Given the description of an element on the screen output the (x, y) to click on. 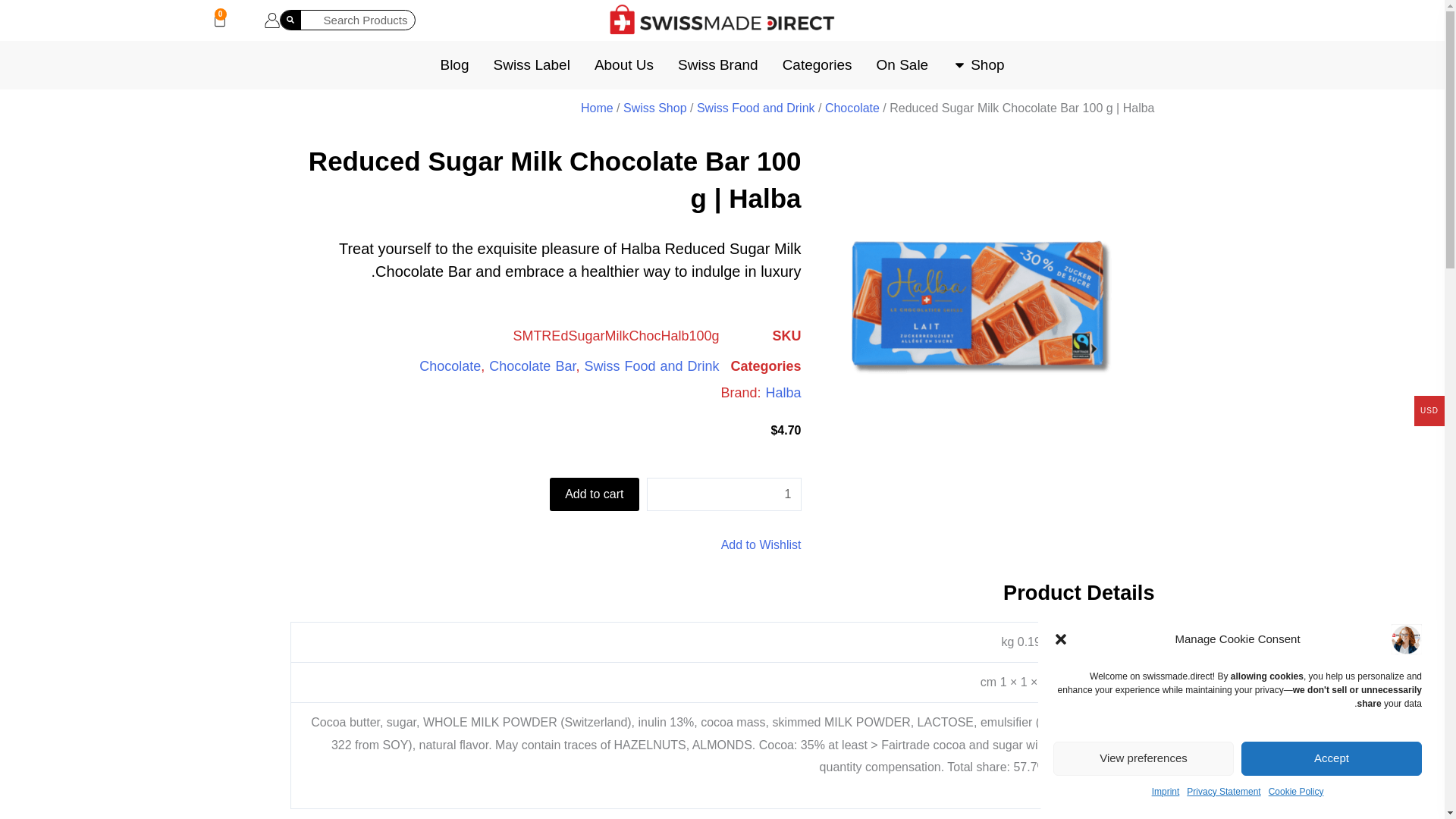
Search (291, 19)
Privacy Statement (1223, 791)
1 (219, 22)
Accept (723, 494)
View preferences (1331, 758)
Imprint (1142, 758)
Reduced Sugar Milk Chocolate Bar 100 g Halba (1165, 791)
Cookie Policy (981, 307)
